Given the description of an element on the screen output the (x, y) to click on. 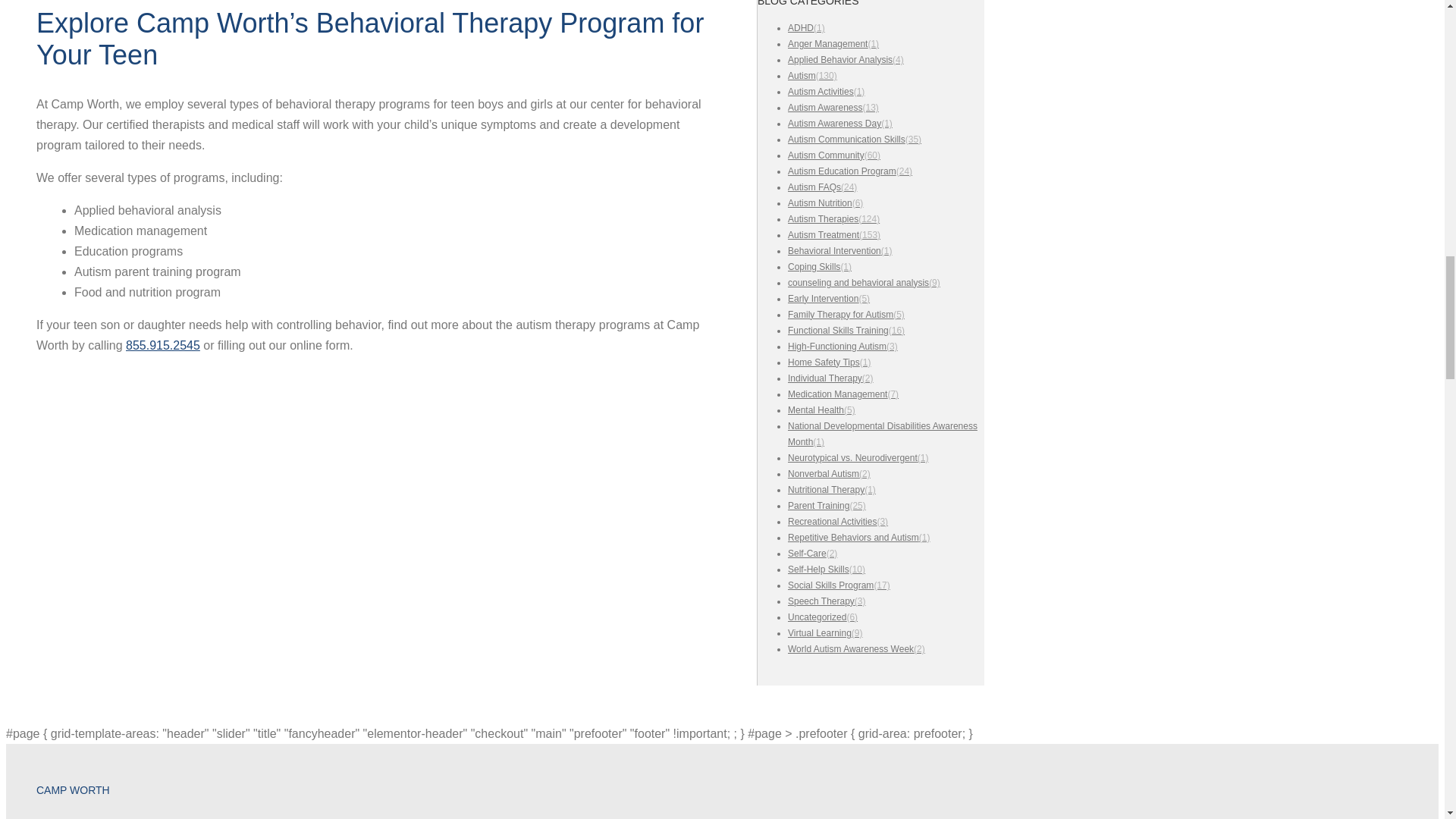
View all posts filed under Autism Activities (825, 91)
View all posts filed under Autism (812, 75)
View all posts filed under Applied Behavior Analysis (845, 59)
View all posts filed under ADHD (806, 27)
View all posts filed under Anger Management (833, 43)
View all posts filed under Autism Awareness (833, 107)
